Given the description of an element on the screen output the (x, y) to click on. 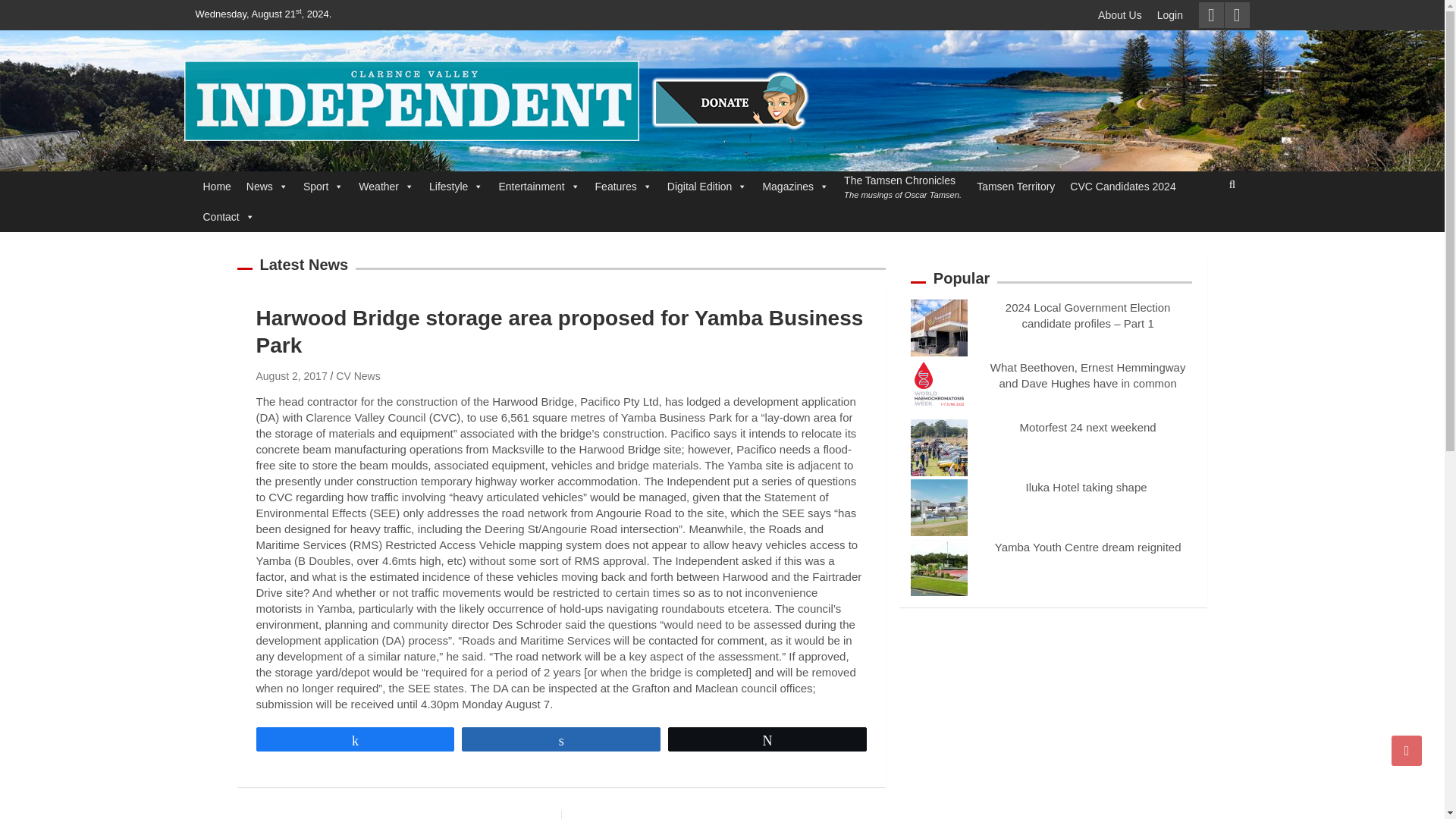
Weather (386, 186)
Clarence Valley Independent (388, 160)
Login (1170, 15)
Home (216, 186)
Lifestyle (456, 186)
Entertainment (538, 186)
About Us (1120, 15)
Features (623, 186)
Go to Top (1406, 750)
Sport (322, 186)
